Given the description of an element on the screen output the (x, y) to click on. 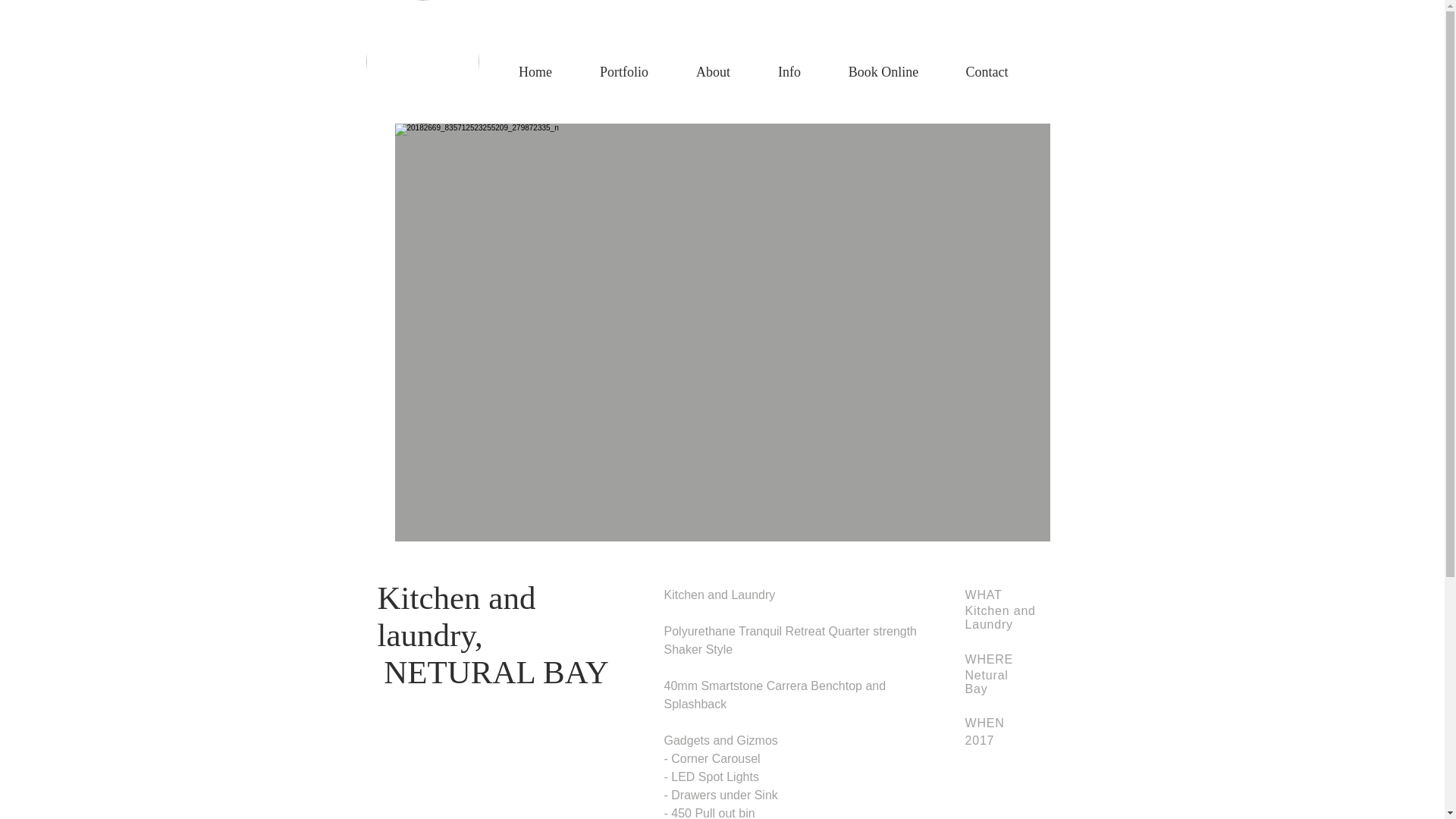
Home Element type: text (534, 72)
Info Element type: text (788, 72)
Portfolio Element type: text (624, 72)
Contact Element type: text (986, 72)
About Element type: text (712, 72)
Book Online Element type: text (883, 72)
